Given the description of an element on the screen output the (x, y) to click on. 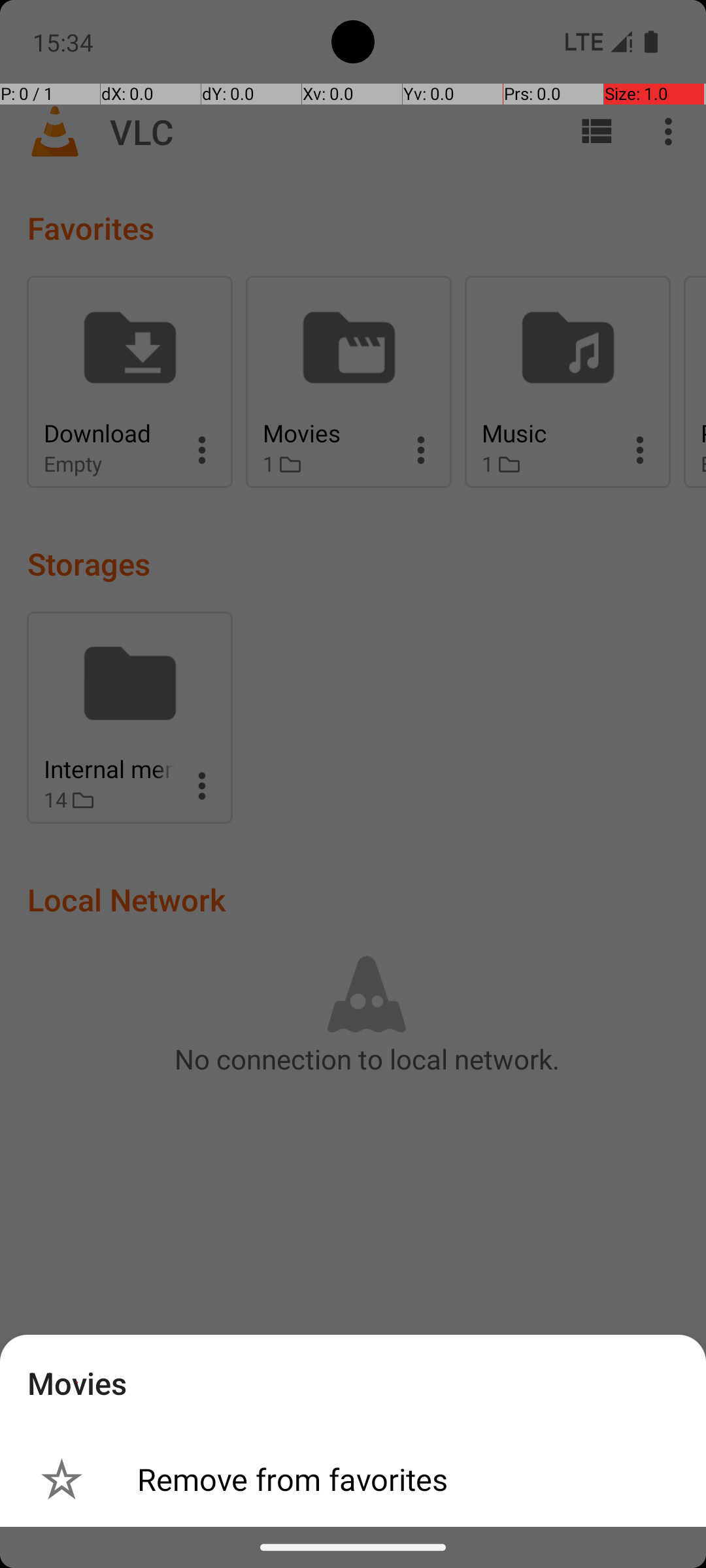
Movies Element type: android.widget.TextView (77, 1382)
